Given the description of an element on the screen output the (x, y) to click on. 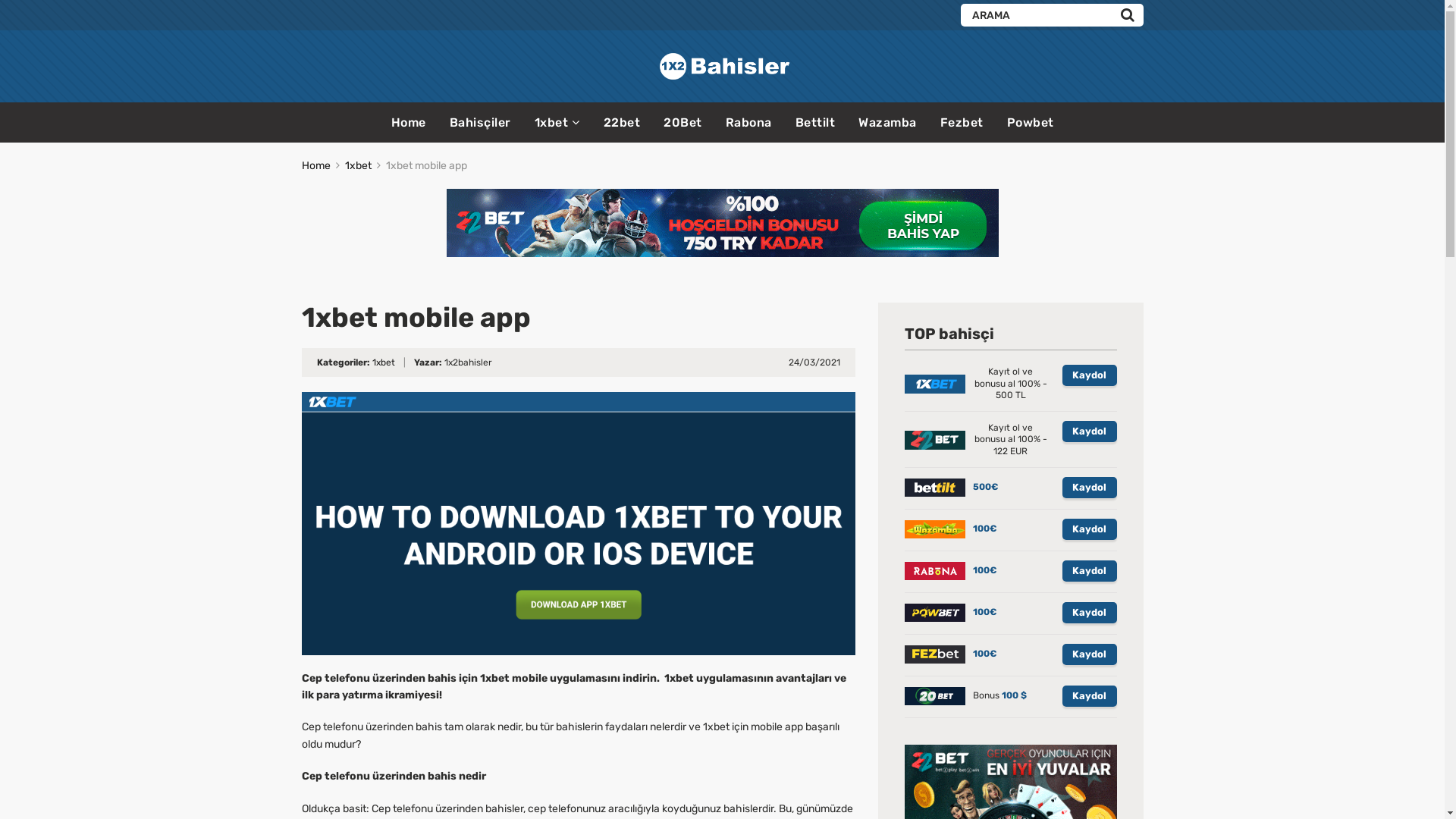
Fezbet Element type: text (961, 122)
22bet Element type: text (621, 122)
Home Element type: text (315, 165)
Home Element type: text (408, 122)
Kaydol Element type: text (1088, 570)
Kaydol Element type: text (1088, 528)
Kaydol Element type: text (1088, 431)
Kaydol Element type: text (1088, 695)
1xbet Element type: text (556, 122)
Rabona Element type: text (747, 122)
Kaydol Element type: text (1088, 487)
Kaydol Element type: text (1088, 374)
1xbet Element type: text (357, 165)
Kaydol Element type: text (1088, 654)
Powbet Element type: text (1030, 122)
Kaydol Element type: text (1088, 612)
Bettilt Element type: text (814, 122)
1xbet Element type: text (382, 362)
20Bet Element type: text (682, 122)
Wazamba Element type: text (887, 122)
